Given the description of an element on the screen output the (x, y) to click on. 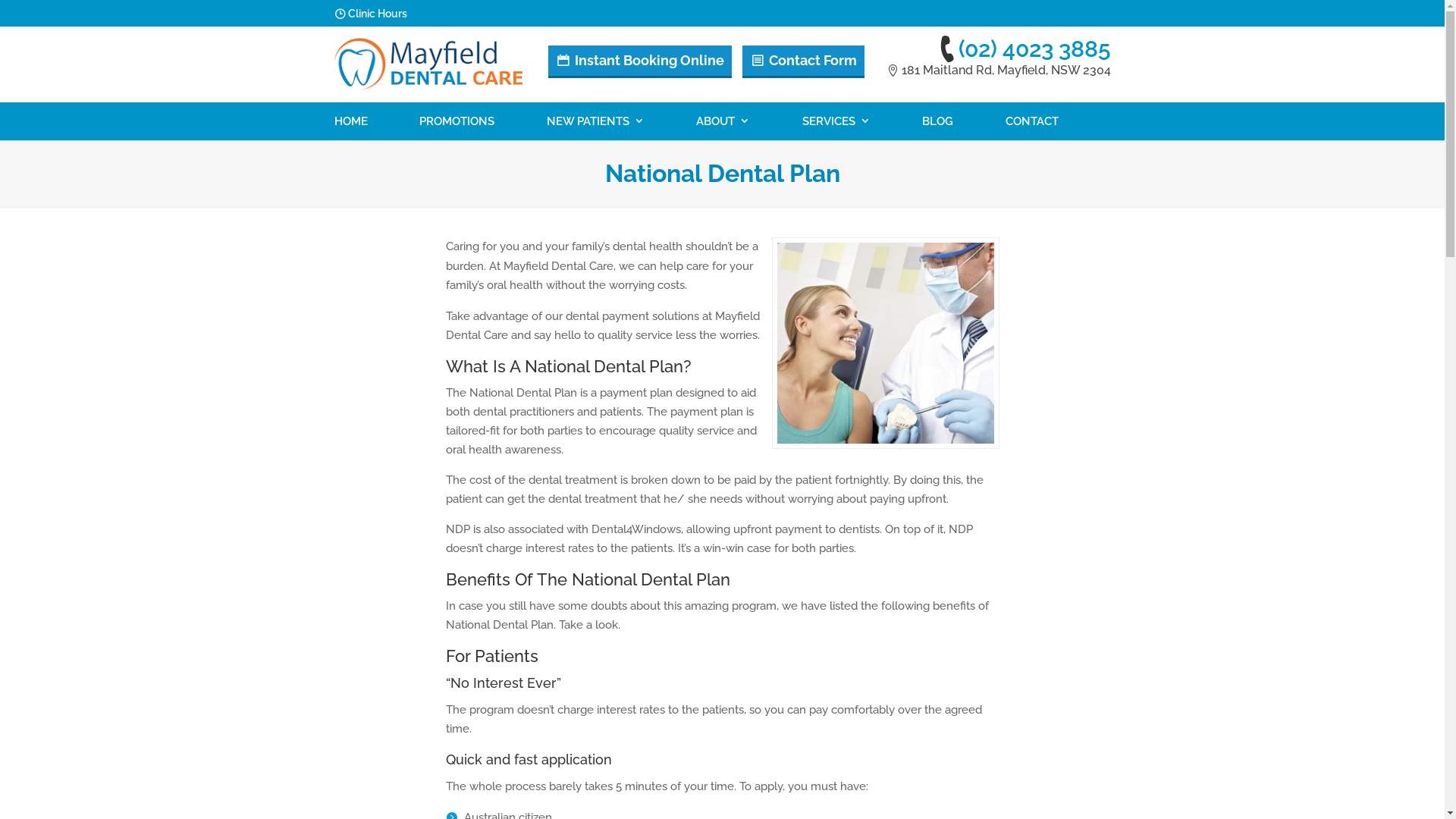
Instant Booking Online Element type: text (639, 61)
BLOG Element type: text (937, 121)
181 Maitland Rd, Mayfield, NSW 2304 Element type: text (997, 69)
NEW PATIENTS Element type: text (595, 121)
Clinic Hours Element type: text (376, 16)
Contact Form Element type: text (803, 61)
PROMOTIONS Element type: text (456, 121)
CONTACT Element type: text (1031, 121)
SERVICES Element type: text (836, 121)
ABOUT Element type: text (722, 121)
(02) 4023 3885 Element type: text (1022, 48)
HOME Element type: text (350, 121)
